Given the description of an element on the screen output the (x, y) to click on. 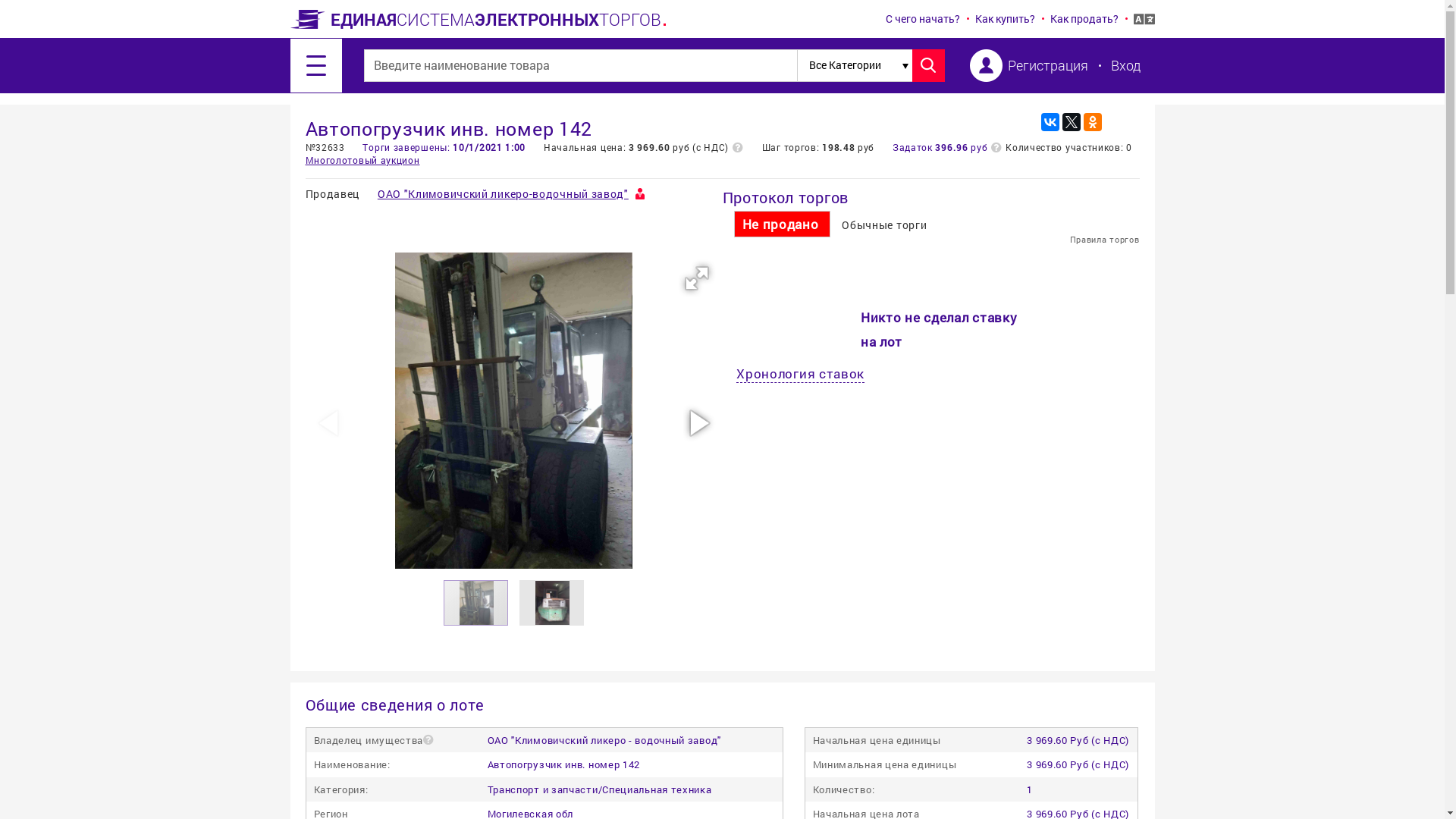
Twitter Element type: hover (1070, 121)
